Given the description of an element on the screen output the (x, y) to click on. 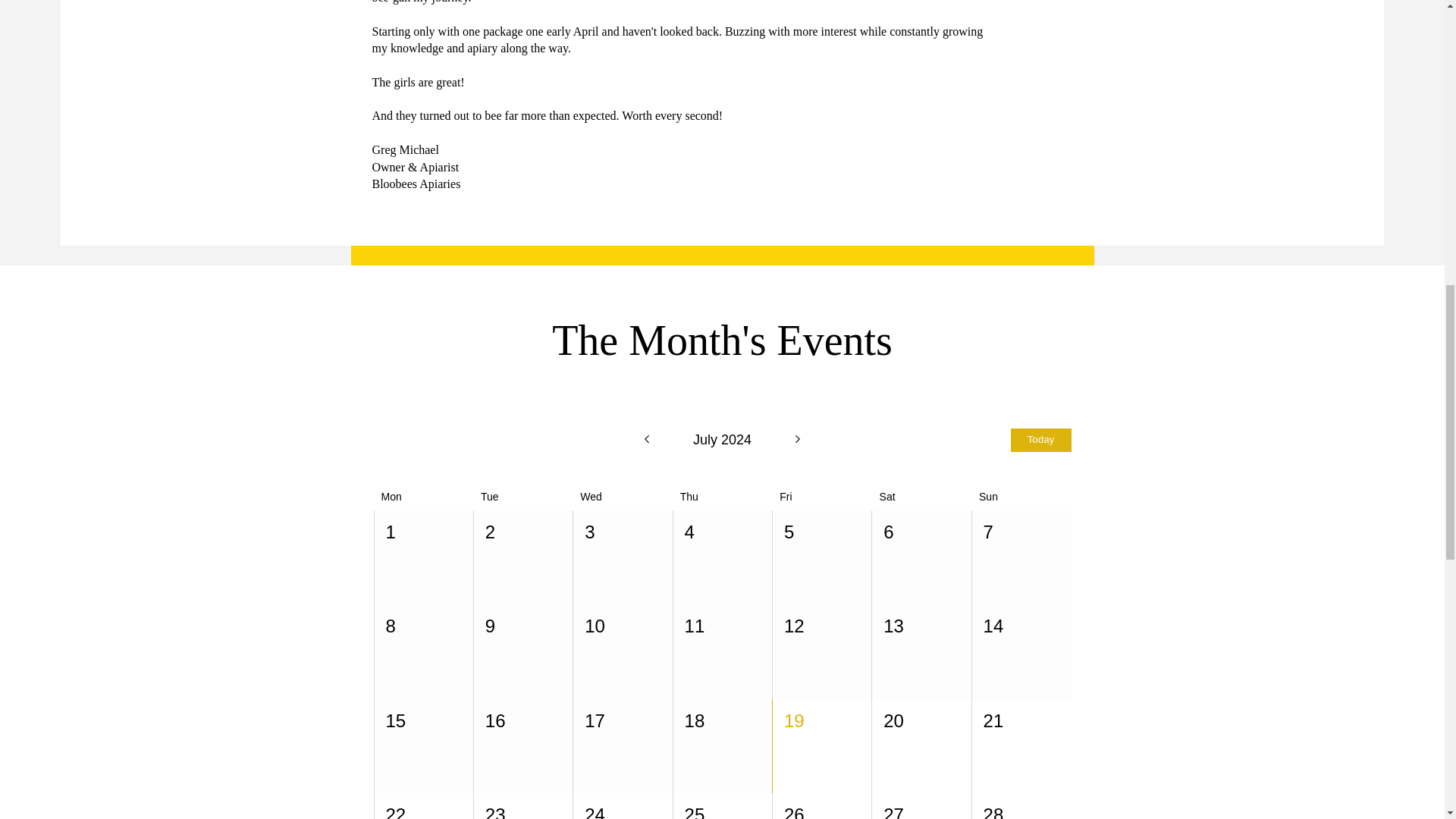
Today (1040, 440)
